Given the description of an element on the screen output the (x, y) to click on. 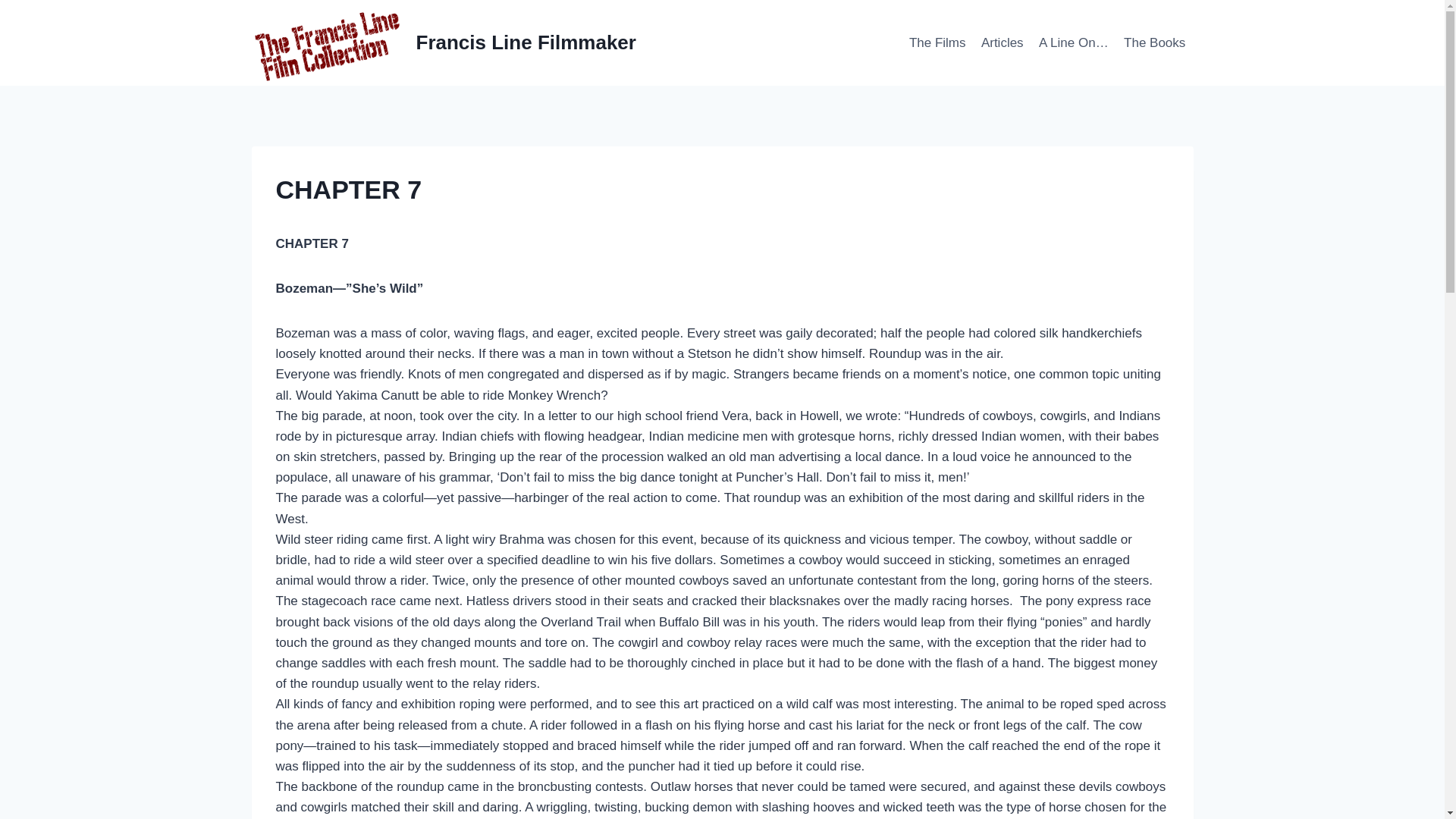
Articles (1002, 42)
The Books (1154, 42)
Francis Line Filmmaker (443, 42)
The Films (937, 42)
